Given the description of an element on the screen output the (x, y) to click on. 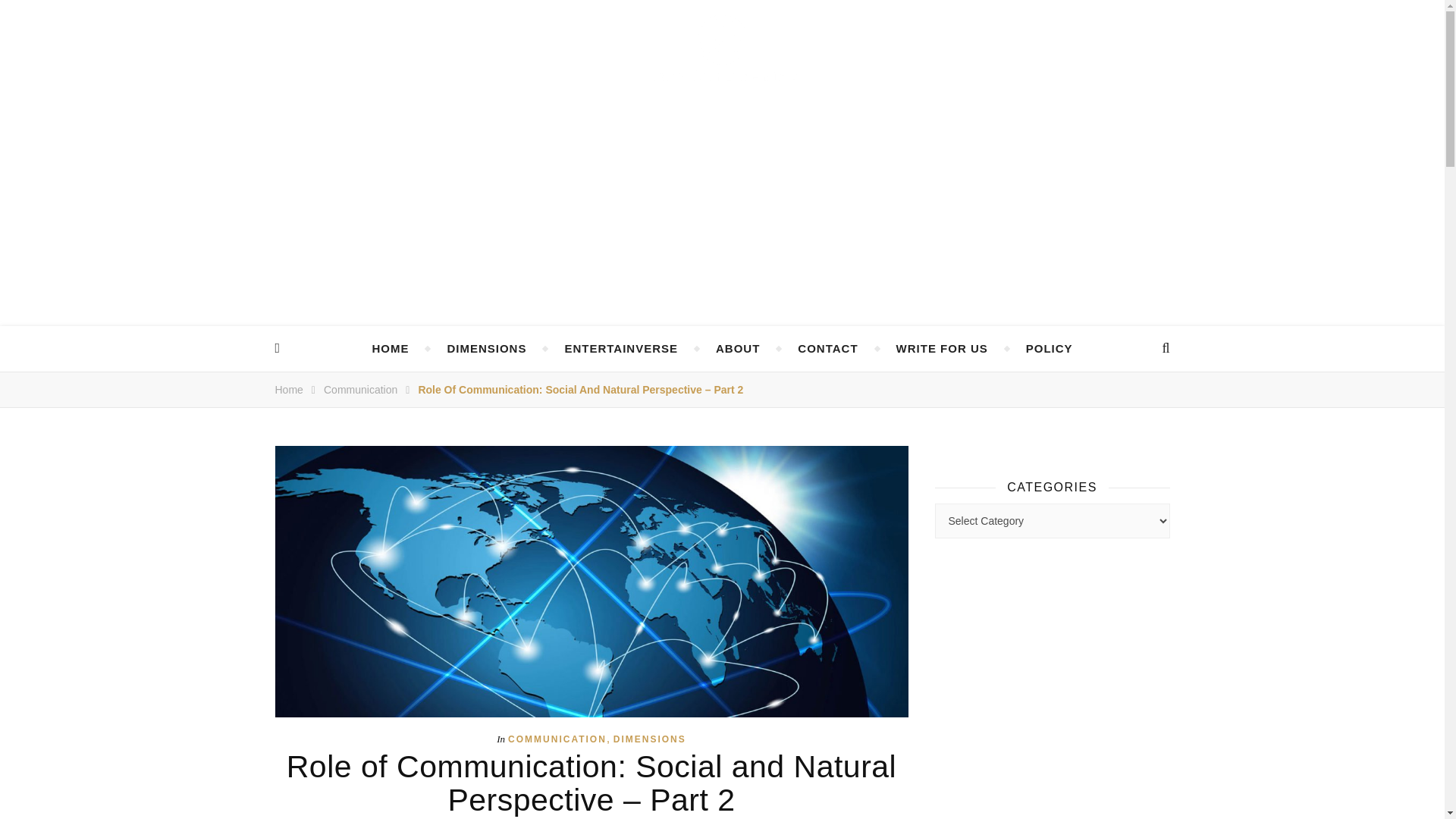
ENTERTAINVERSE (621, 348)
Home (288, 389)
DIMENSIONS (485, 348)
Raise Your Dimensions (721, 48)
Communication (360, 389)
